Given the description of an element on the screen output the (x, y) to click on. 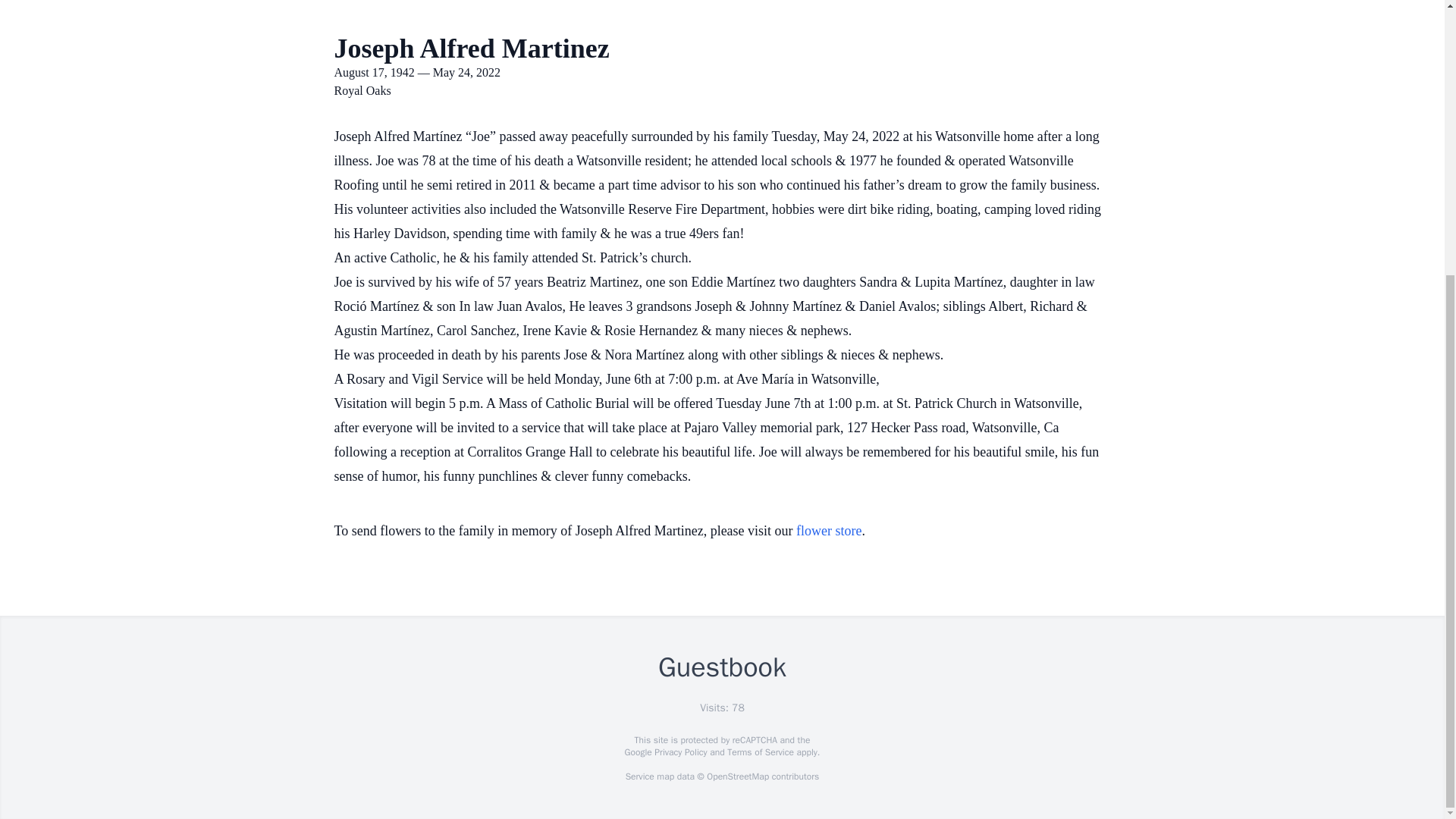
Terms of Service (759, 752)
OpenStreetMap (737, 776)
Privacy Policy (679, 752)
flower store (828, 530)
